Given the description of an element on the screen output the (x, y) to click on. 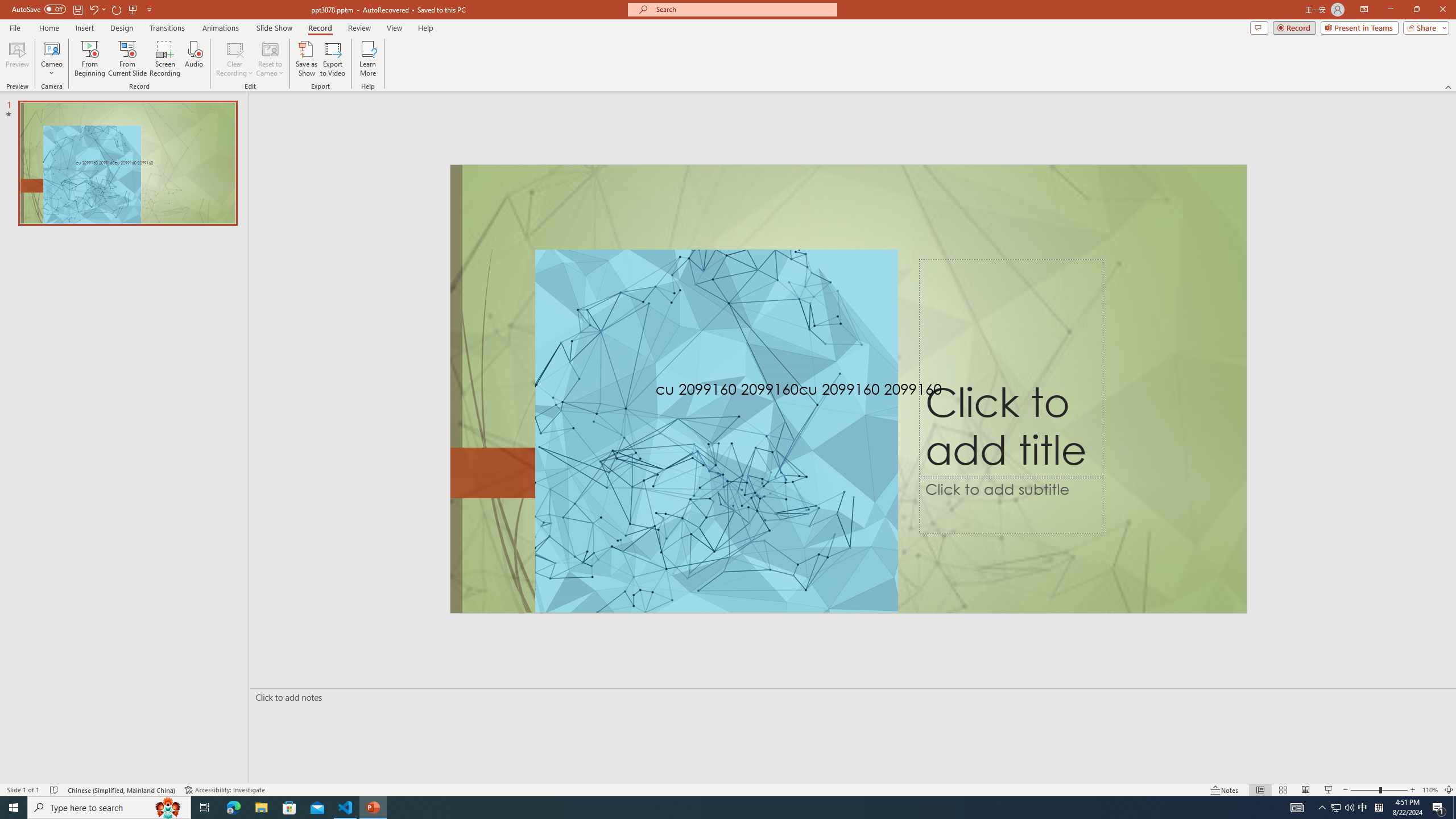
Microsoft search (742, 9)
Audio (193, 58)
Zoom 110% (1430, 790)
Quick Access Toolbar (82, 9)
Redo (117, 9)
More Options (51, 68)
Cameo (51, 58)
Help (425, 28)
Zoom to Fit  (1449, 790)
File Tab (15, 27)
Animations (220, 28)
Customize Quick Access Toolbar (149, 9)
